Given the description of an element on the screen output the (x, y) to click on. 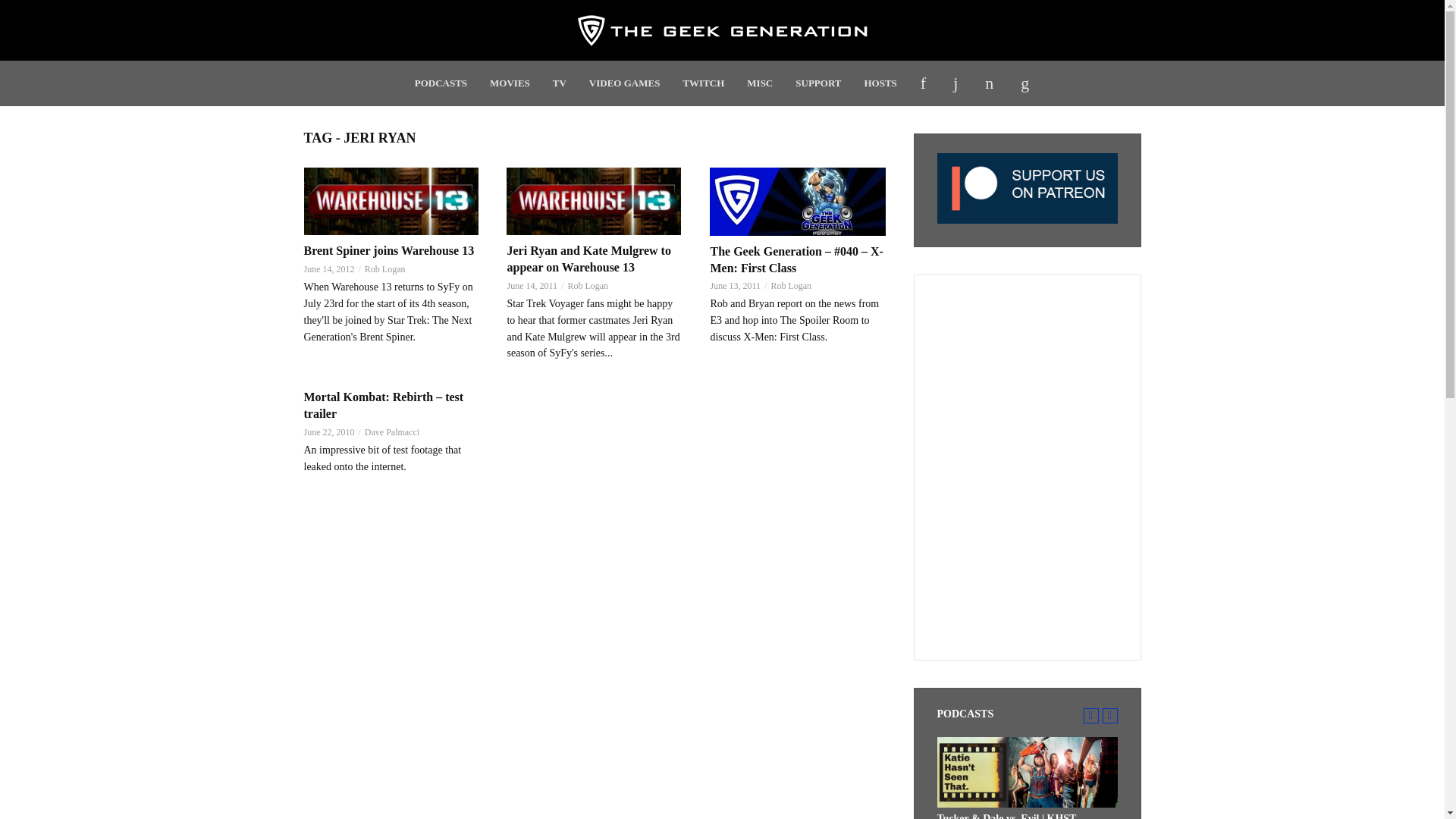
Jeri Ryan and Kate Mulgrew to appear on Warehouse 13 (594, 201)
TWITCH (703, 83)
HOSTS (879, 83)
PODCASTS (441, 83)
Brent Spiner joins Warehouse 13 (390, 201)
VIDEO GAMES (624, 83)
MOVIES (510, 83)
MISC (759, 83)
SUPPORT (817, 83)
